Given the description of an element on the screen output the (x, y) to click on. 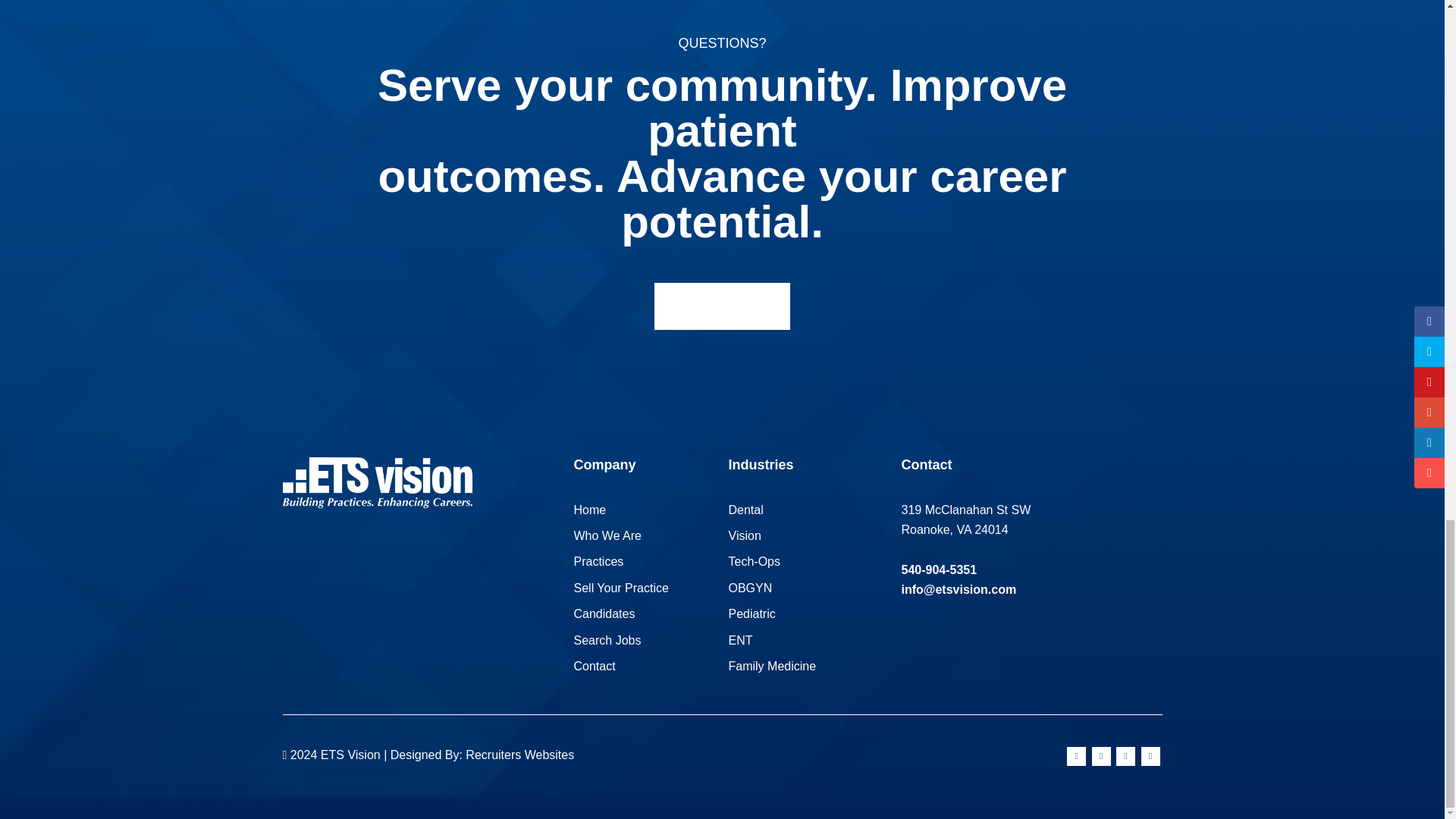
Tech-Ops (753, 561)
OBGYN (749, 587)
Practices (598, 561)
Candidates (603, 613)
Dental (745, 509)
Home (589, 509)
Who We Are (607, 535)
ENT (740, 640)
Contact (593, 666)
Sell Your Practice (620, 587)
